Given the description of an element on the screen output the (x, y) to click on. 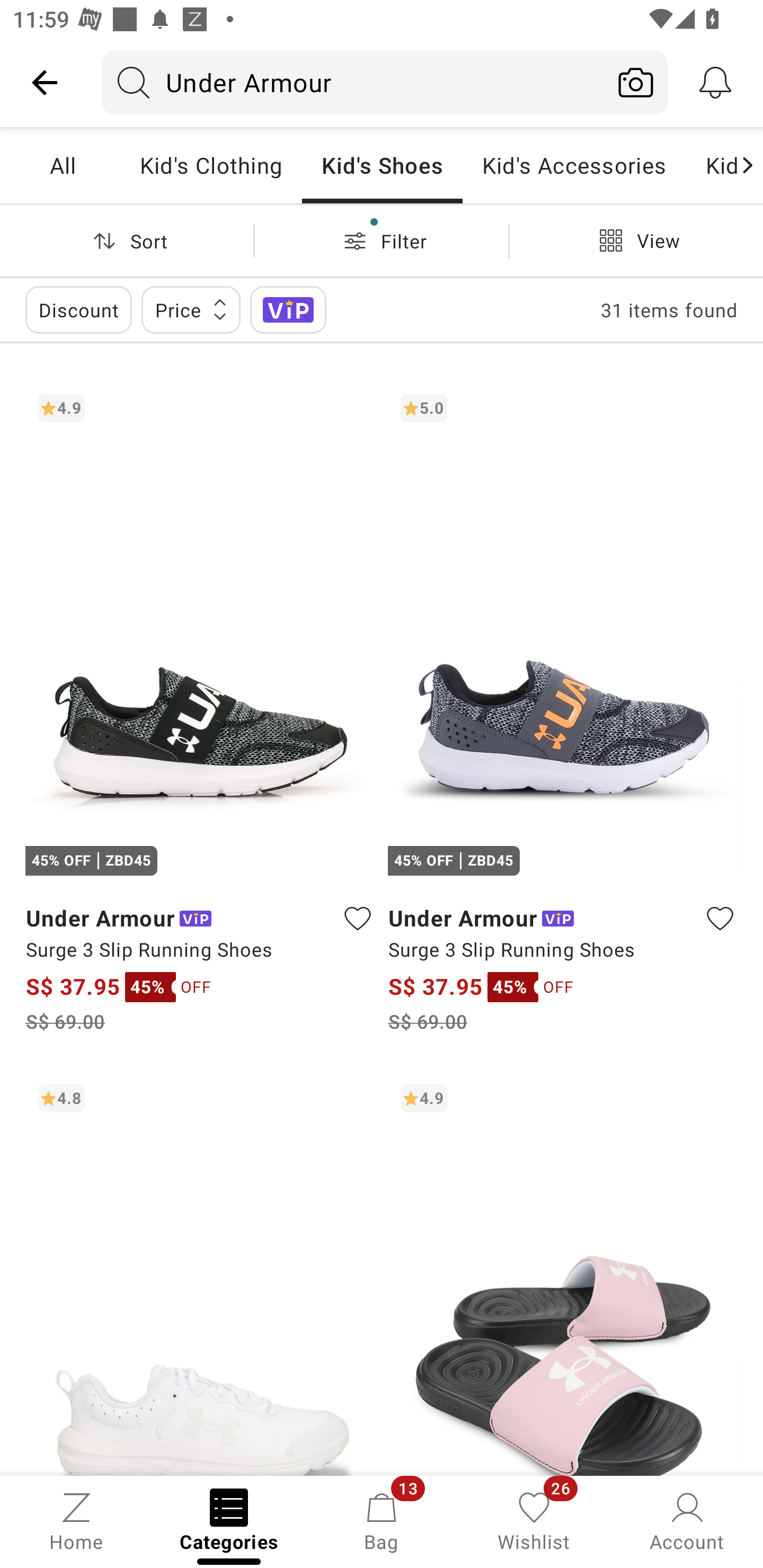
Navigate up (44, 82)
Under Armour (352, 82)
All (72, 165)
Kid's Clothing (211, 165)
Kid's Accessories (573, 165)
Sort (126, 240)
Filter (381, 240)
View (636, 240)
Discount (78, 309)
Price (190, 309)
4.8 (200, 1272)
4.9 (562, 1272)
Home (76, 1519)
Bag, 13 new notifications Bag (381, 1519)
Wishlist, 26 new notifications Wishlist (533, 1519)
Account (686, 1519)
